Given the description of an element on the screen output the (x, y) to click on. 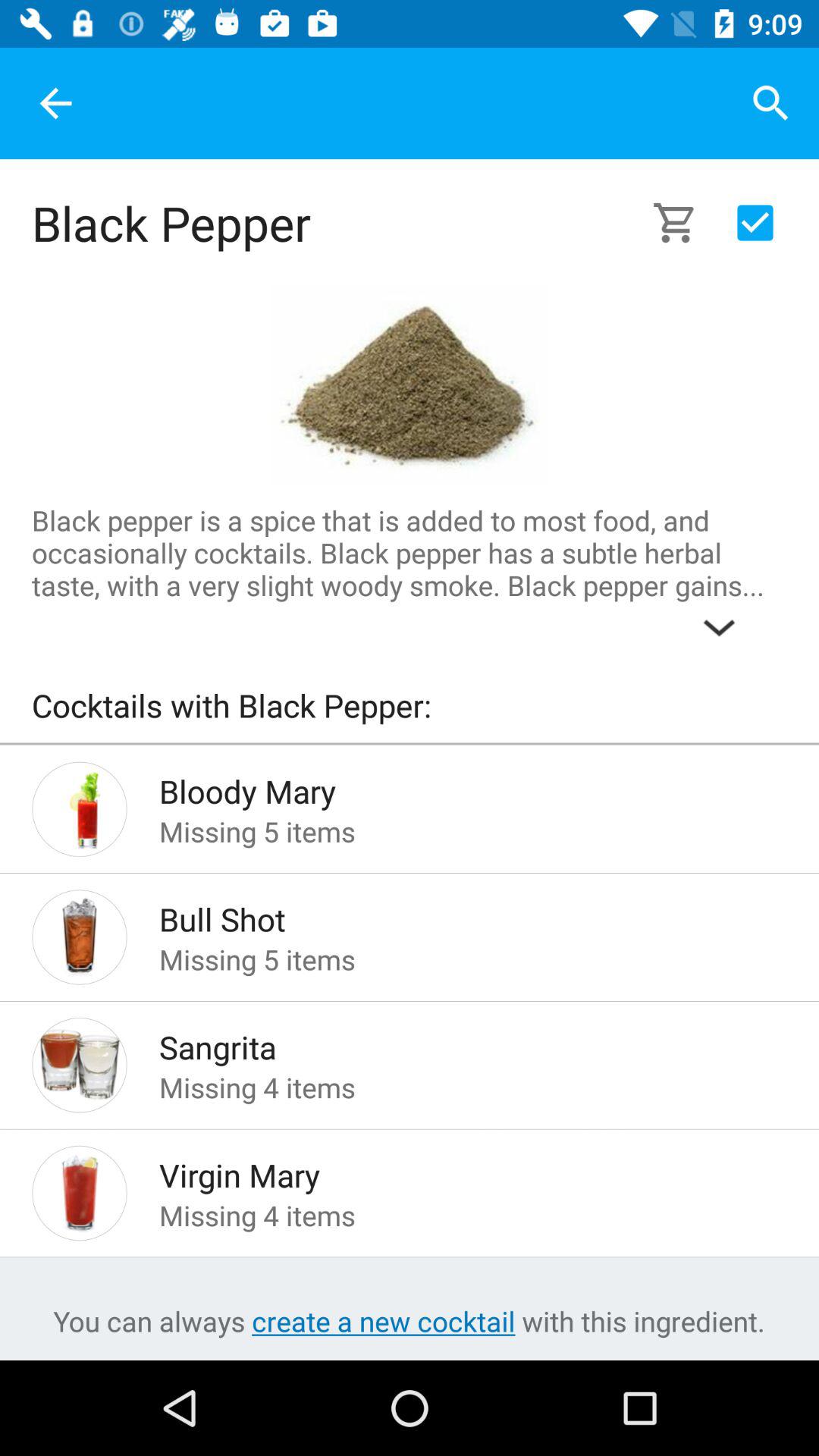
click virgin mary (449, 1170)
